Given the description of an element on the screen output the (x, y) to click on. 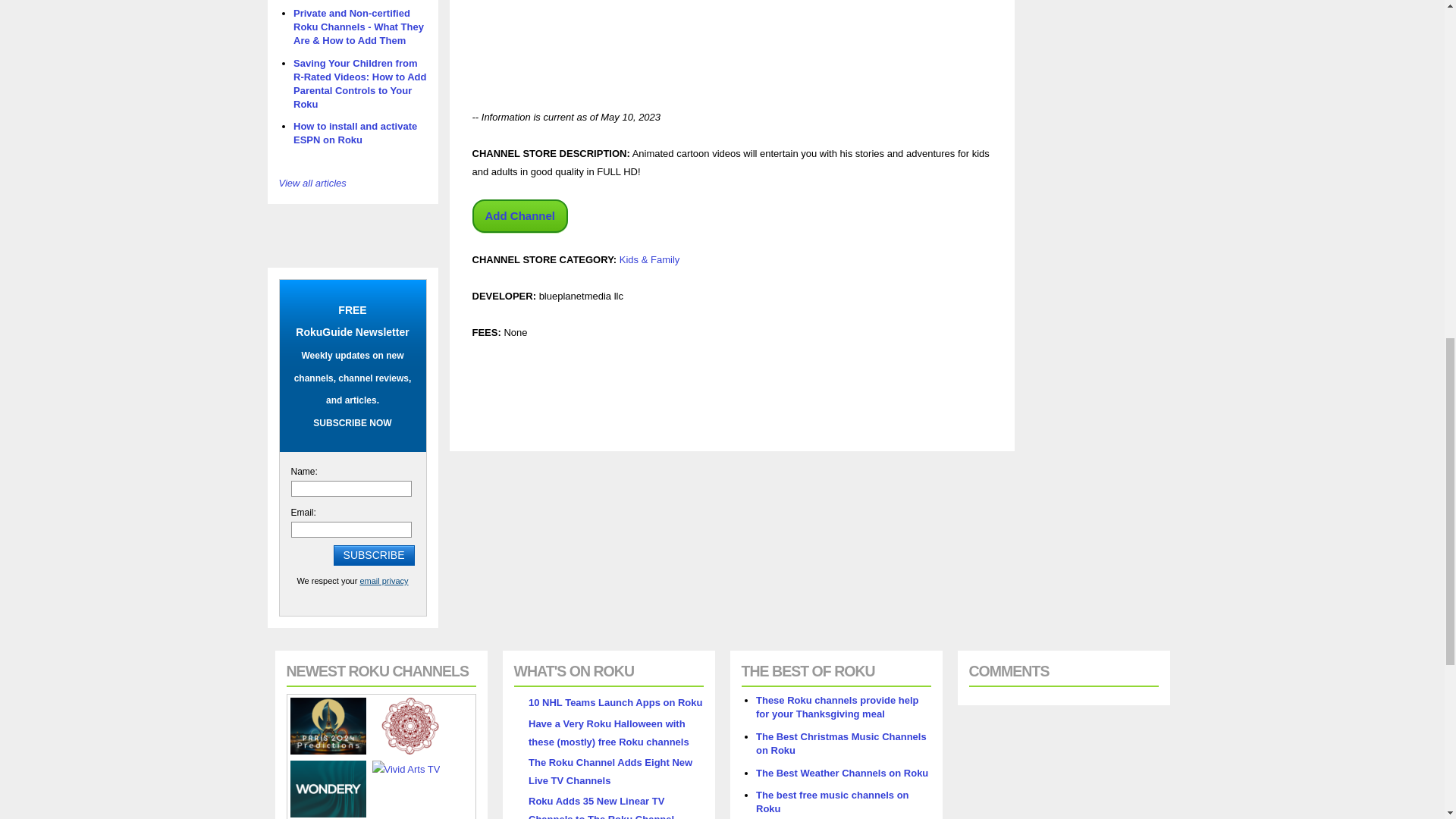
View all articles (312, 183)
Subscribe (373, 555)
How to install and activate ESPN on Roku (355, 132)
YouTube video player (683, 42)
10 NHL Teams Launch Apps on Roku (614, 702)
email privacy (383, 580)
Click to view all articles (312, 183)
Subscribe (373, 555)
The Roku Channel Adds Eight New Live TV Channels (610, 771)
Add Channel (519, 215)
Privacy Policy (383, 580)
